Given the description of an element on the screen output the (x, y) to click on. 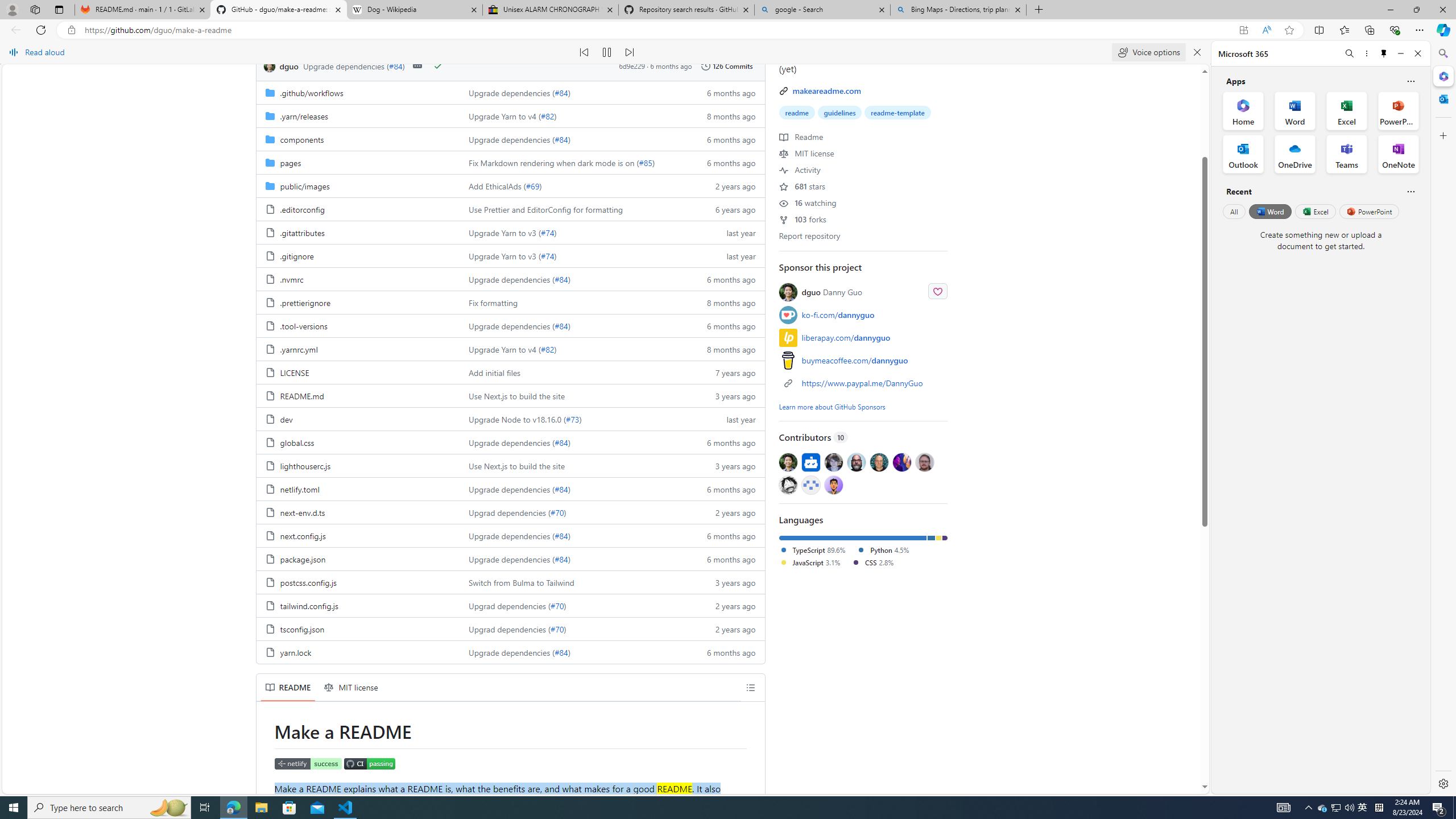
AutomationID: folder-row-11 (510, 348)
yarn.lock, (File) (295, 652)
@coderberry (856, 461)
.yarn/releases, (Directory) (303, 116)
JavaScript 3.1% (809, 561)
Read previous paragraph (583, 52)
Netlify Status (307, 764)
Netlify Status (307, 763)
README.md, (File) (301, 395)
netlify.toml, (File) (299, 488)
AutomationID: folder-row-24 (510, 651)
Upgrade Yarn to v4 (#82) (573, 348)
dguo (270, 65)
dguo Danny Guo (862, 291)
AutomationID: folder-row-14 (510, 418)
